Given the description of an element on the screen output the (x, y) to click on. 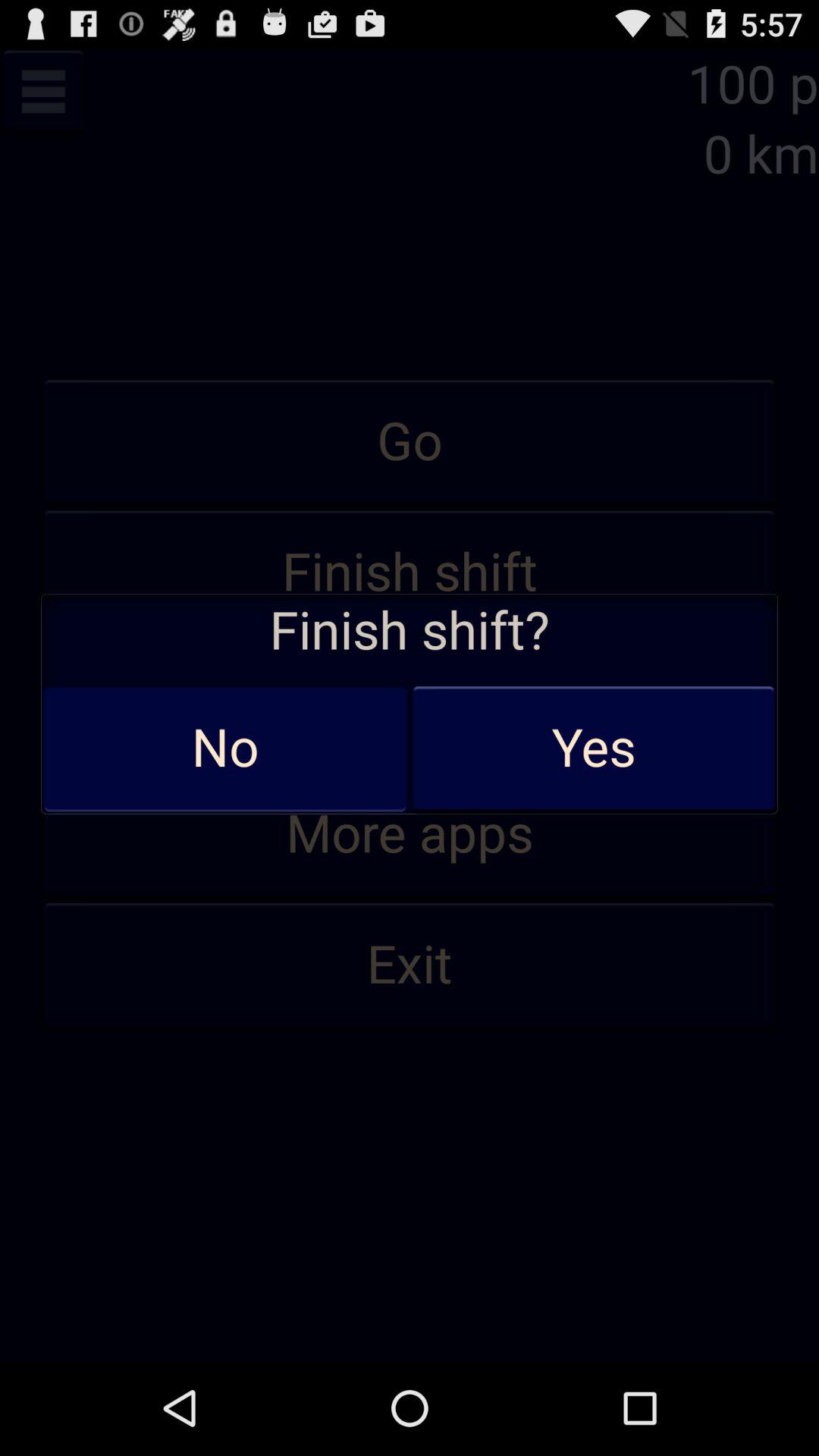
turn on the item above the more apps item (409, 703)
